Given the description of an element on the screen output the (x, y) to click on. 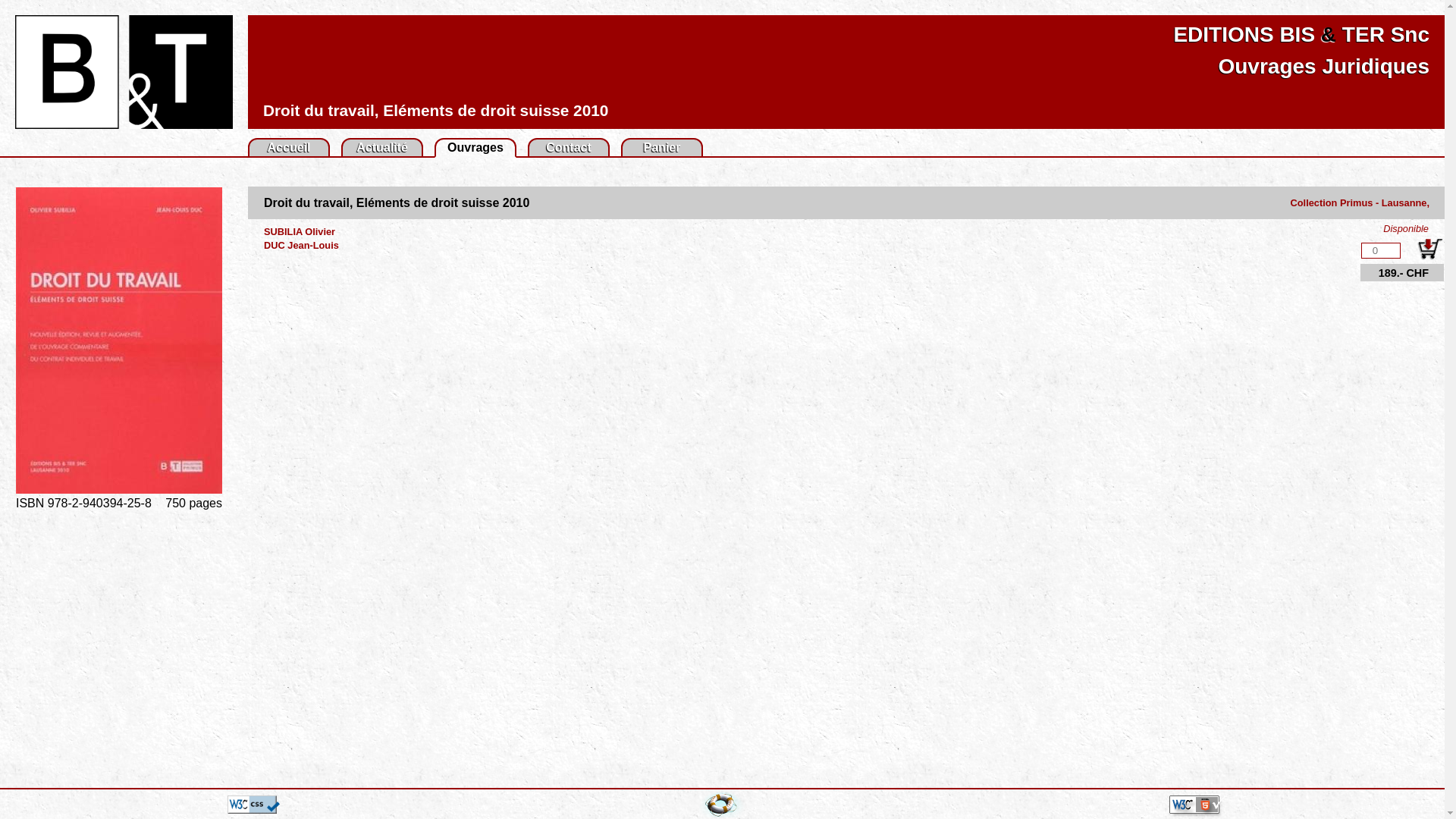
Ouvrages Element type: text (475, 147)
Accueil Element type: text (288, 147)
Contact Element type: text (568, 147)
Panier Element type: text (661, 147)
